Given the description of an element on the screen output the (x, y) to click on. 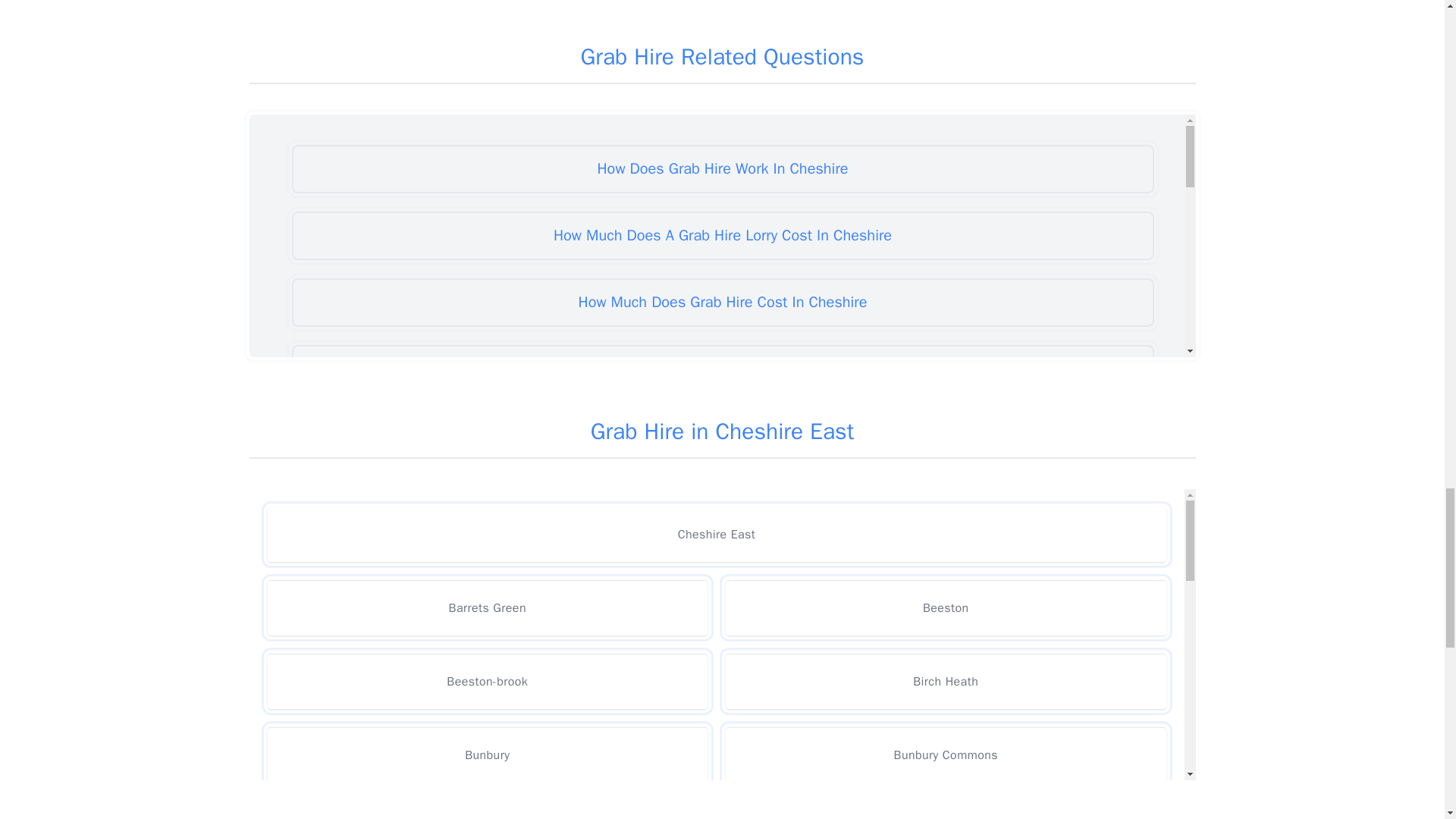
How Much Is Grab Hire In Cheshire (722, 635)
How Much Does Grab Hire Cost In Cheshire (722, 302)
How Much Is A Grab Hire In Cheshire (722, 502)
How Much For Grab Hire In Cheshire (722, 435)
How Does Grab Hire Work In Cheshire (722, 168)
How Much Is A Grab Lorry To Hire In Cheshire (722, 569)
How Much To Hire A Grab Lorry In Cheshire (722, 769)
How Much Does A Grab Hire Lorry Cost In Cheshire (722, 235)
How Much Does It Cost To Hire A Grab Lorry In Cheshire (722, 368)
